Given the description of an element on the screen output the (x, y) to click on. 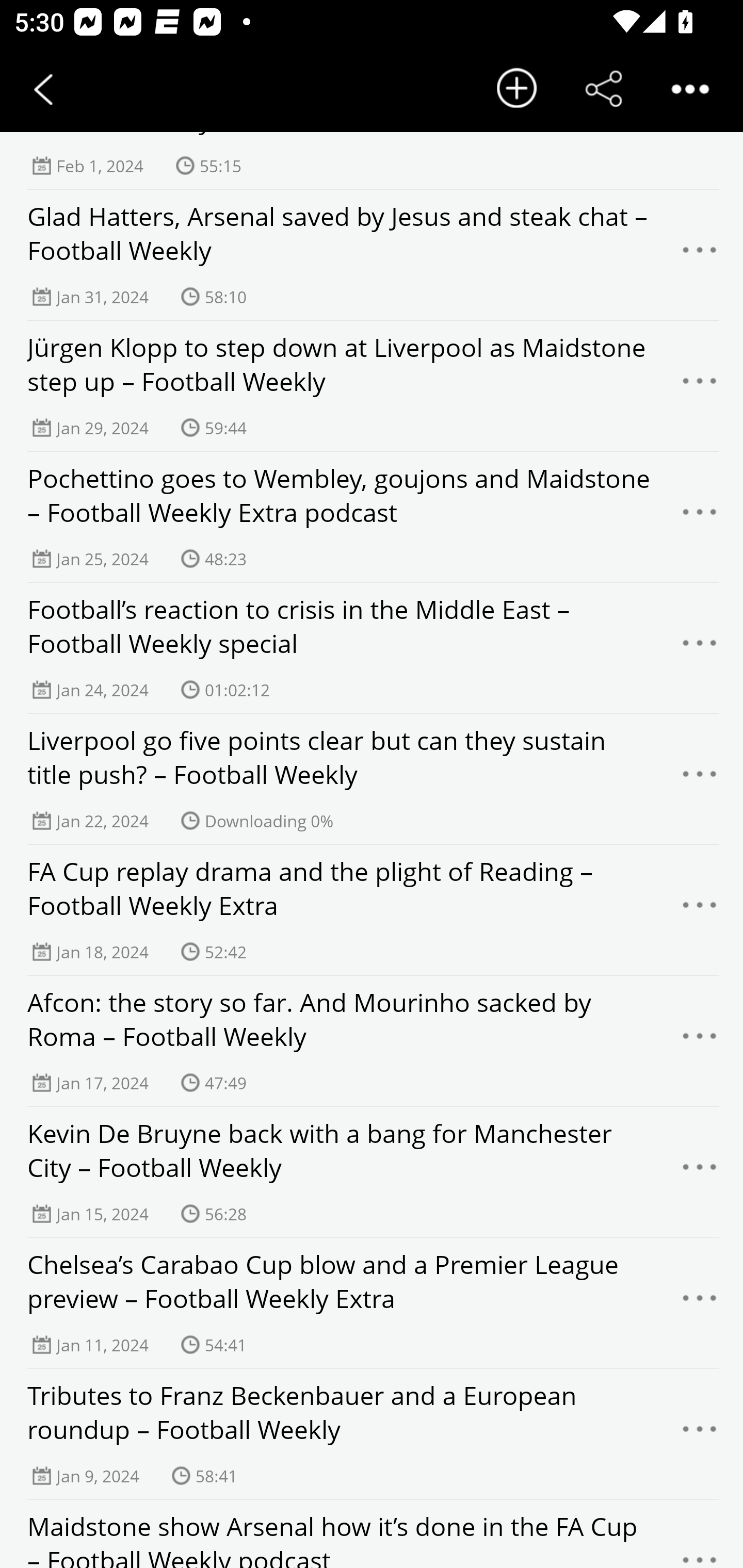
Back (43, 88)
Menu (699, 254)
Menu (699, 386)
Menu (699, 517)
Menu (699, 648)
Menu (699, 779)
Menu (699, 910)
Menu (699, 1041)
Menu (699, 1171)
Menu (699, 1303)
Menu (699, 1433)
Menu (699, 1545)
